Given the description of an element on the screen output the (x, y) to click on. 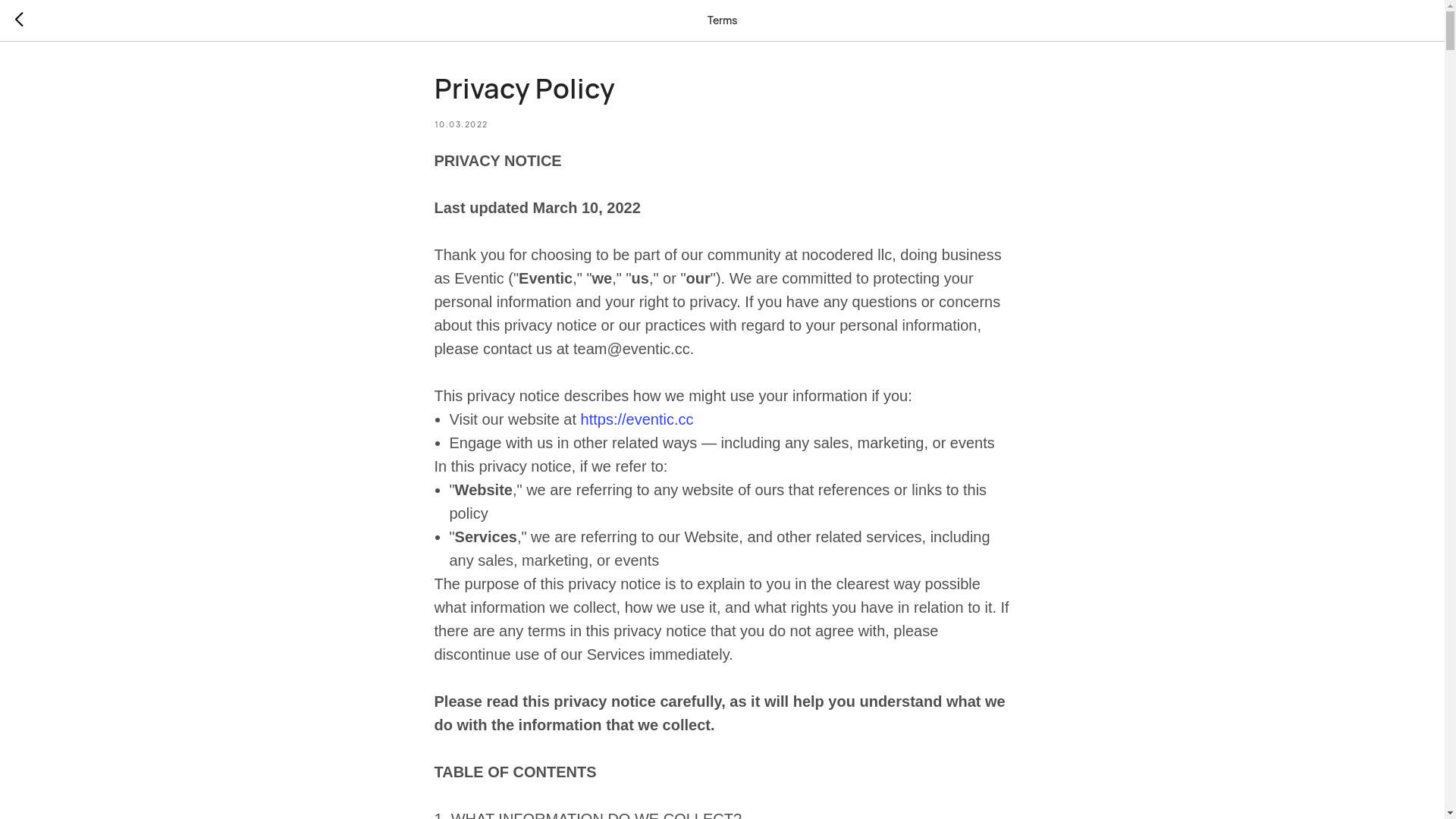
https://eventic.cc Element type: text (636, 419)
